Given the description of an element on the screen output the (x, y) to click on. 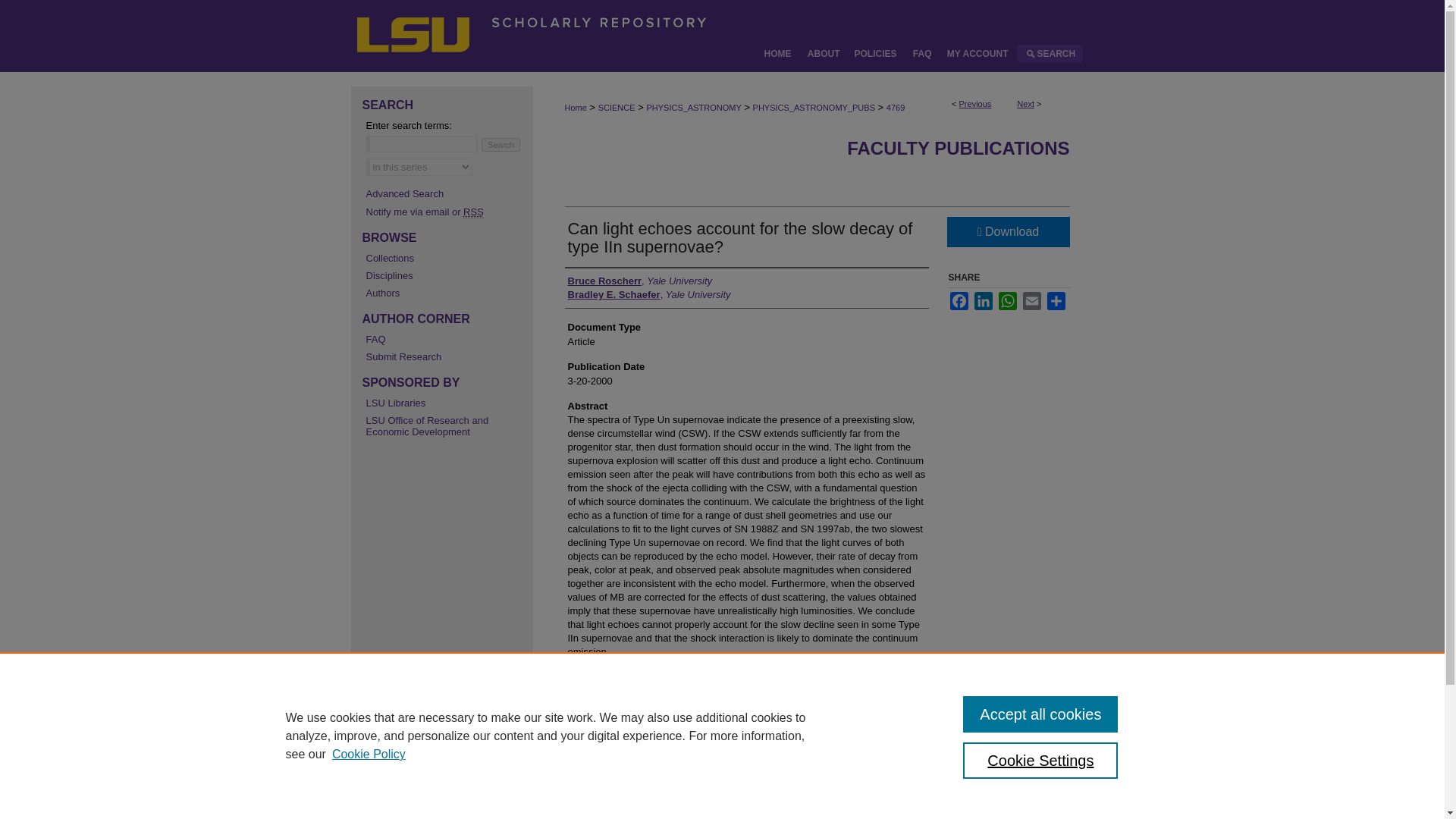
SCIENCE (616, 107)
Authors (444, 292)
Browse by Collections (444, 257)
ABOUT (823, 54)
POLICIES (874, 54)
WhatsApp (1006, 300)
Email or RSS Notifications (444, 211)
LinkedIn (982, 300)
Bradley E. Schaefer, Yale University (648, 295)
Disciplines (444, 275)
Collections (444, 257)
Search (500, 144)
Notify me via email or RSS (444, 211)
Search (500, 144)
